Given the description of an element on the screen output the (x, y) to click on. 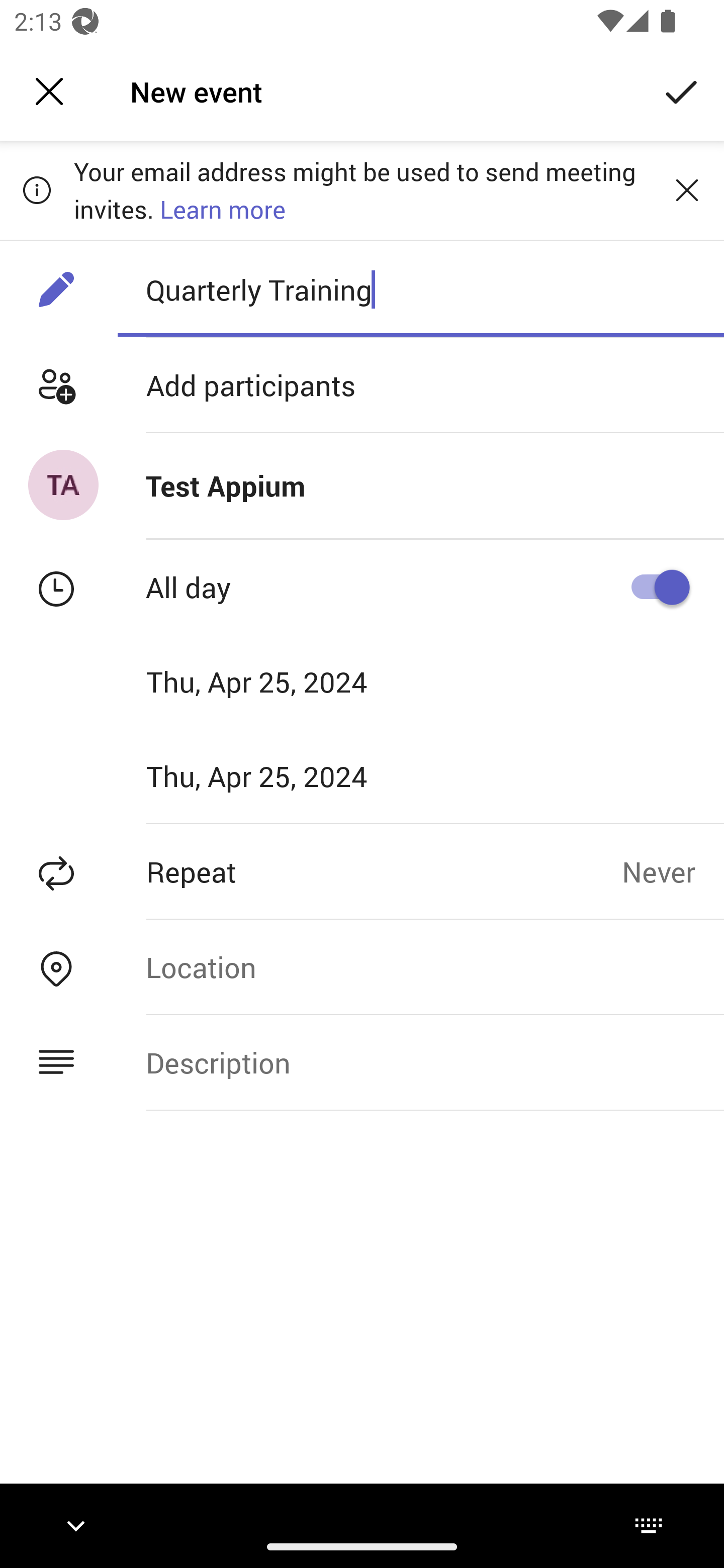
Back (49, 91)
Send invite (681, 90)
Dismiss banner (687, 189)
Quarterly Training (420, 289)
Add participants Add participants option (362, 384)
All day (654, 586)
Thu, Apr 25, 2024 Starts Thursday Apr 25, 2024 (288, 681)
Thu, Apr 25, 2024 Ends Thursday Apr 25, 2024 (288, 776)
Repeat (310, 871)
Never Repeat Never (672, 871)
Location (420, 967)
Description (420, 1062)
